Given the description of an element on the screen output the (x, y) to click on. 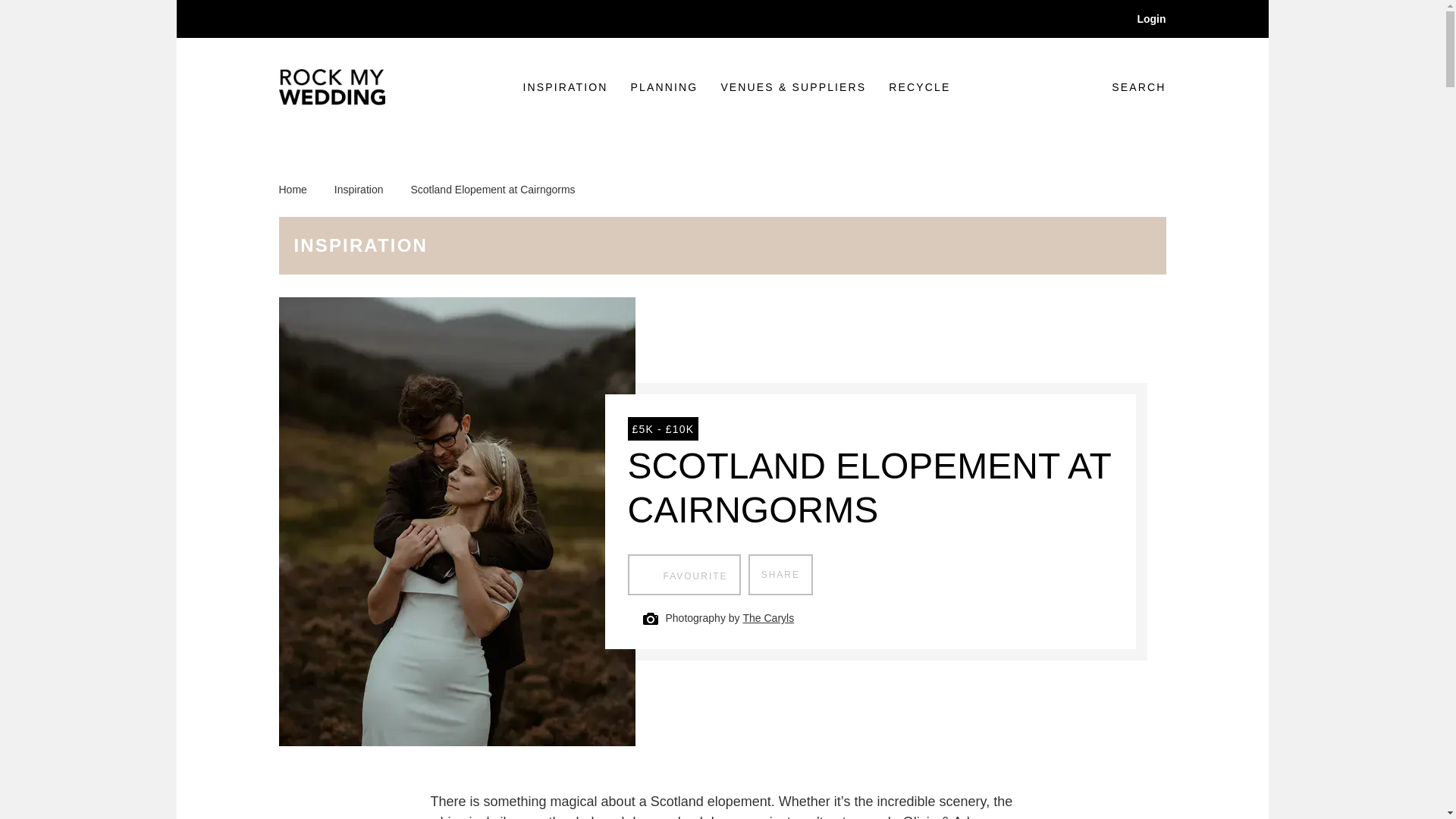
The Caryls (1126, 86)
PLANNING (767, 618)
FAVOURITE (664, 87)
Home (684, 574)
SHARE (301, 189)
Inspiration (780, 574)
INSPIRATION (366, 189)
Scotland Elopement at Cairngorms (565, 87)
Login (492, 189)
RECYCLE (1140, 18)
